Given the description of an element on the screen output the (x, y) to click on. 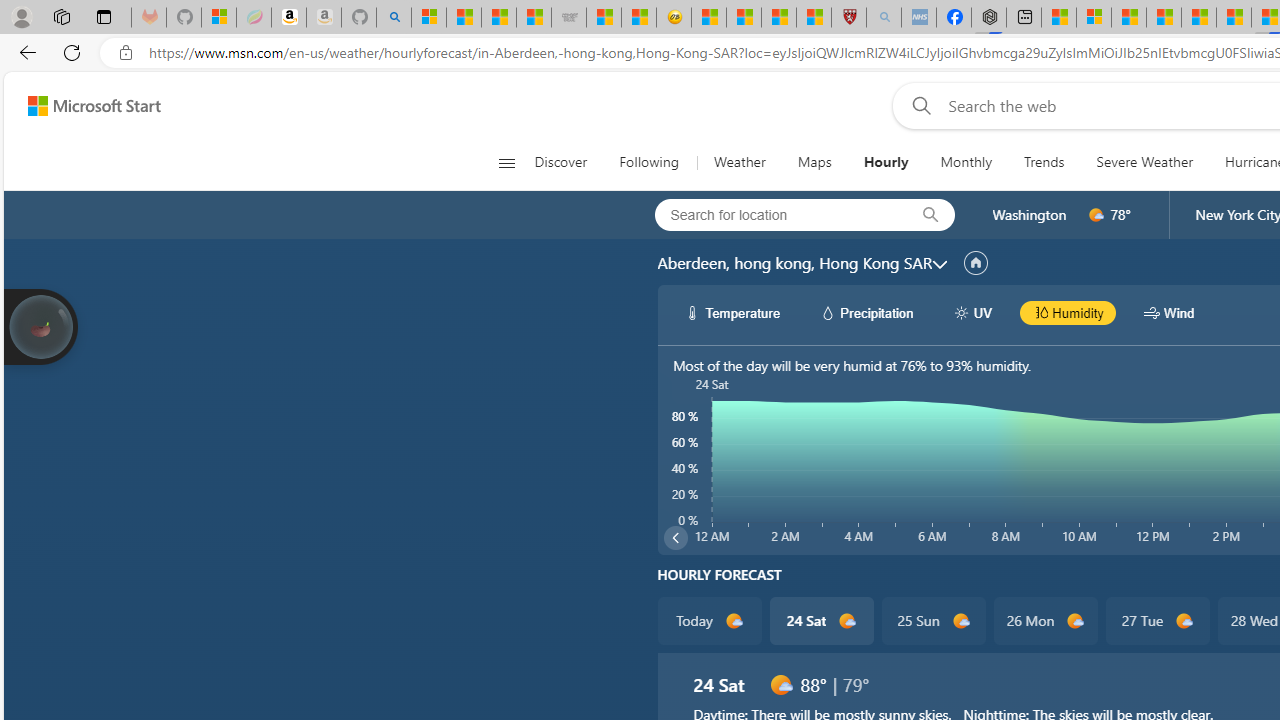
26 Mon d1000 (1045, 620)
Join us in planting real trees to help our planet! (40, 325)
common/carouselChevron (675, 538)
hourlyChart/temperatureWhite Temperature (733, 312)
